Given the description of an element on the screen output the (x, y) to click on. 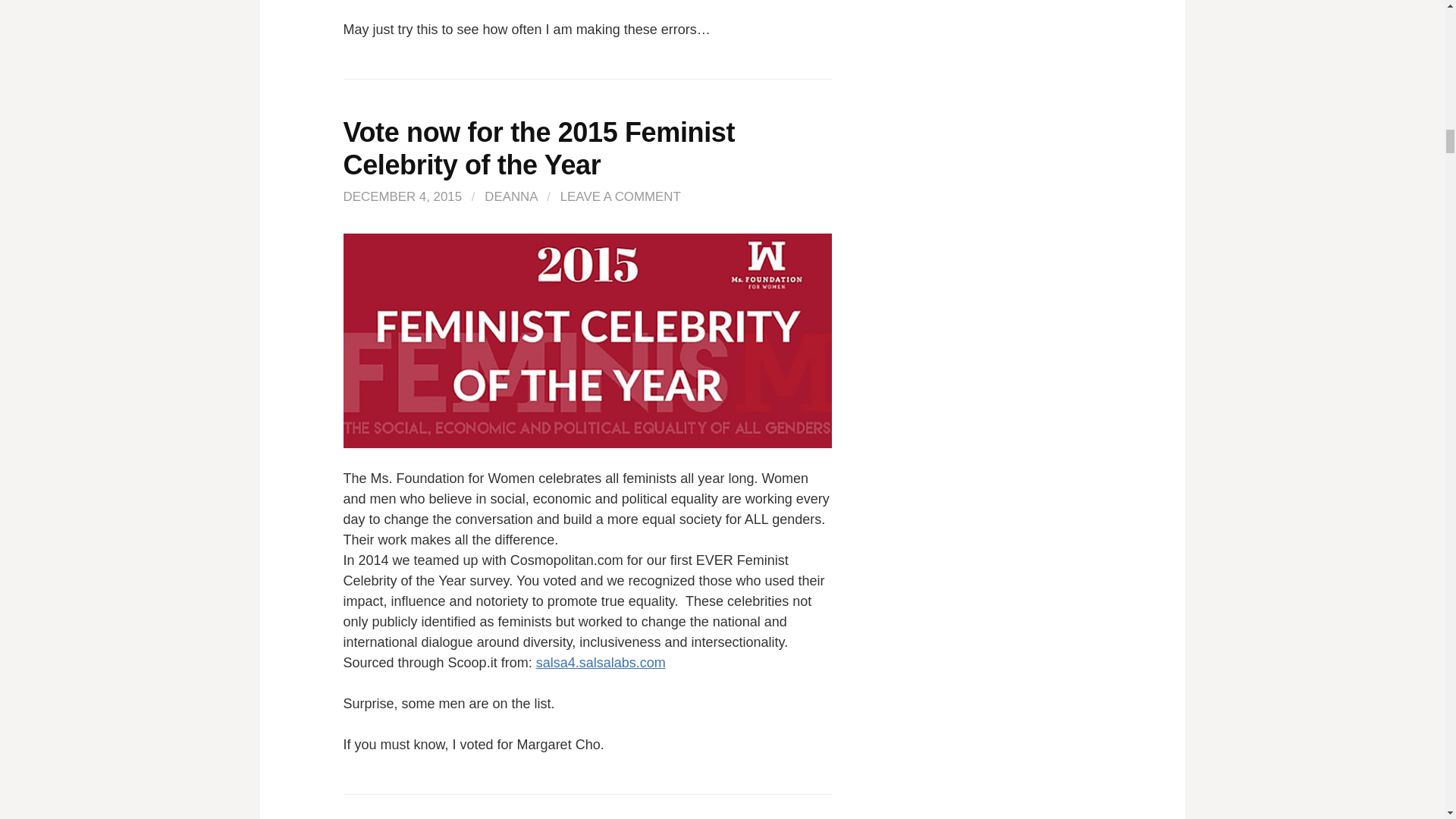
Vote now for the 2015 Feminist Celebrity of the Year (538, 148)
